Given the description of an element on the screen output the (x, y) to click on. 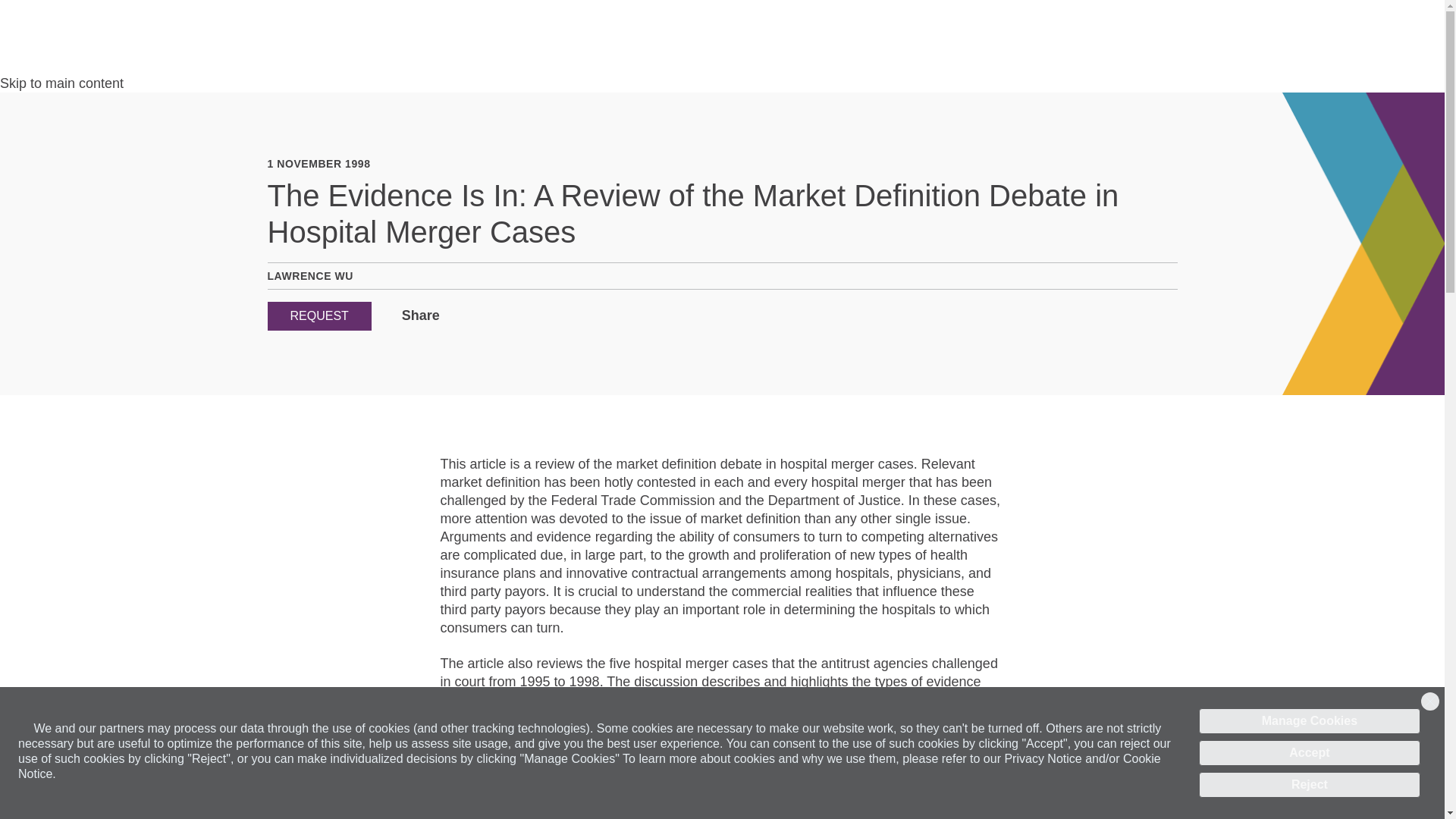
copy (518, 316)
Manage Cookies (1309, 720)
mail (497, 316)
linkedin (454, 316)
mail (497, 316)
Mail (497, 316)
X (475, 316)
copy (518, 316)
LAWRENCE WU (309, 275)
X (475, 316)
Skip to main content (61, 83)
REQUEST (318, 316)
linkedin (454, 316)
Copy (518, 316)
X (475, 316)
